Given the description of an element on the screen output the (x, y) to click on. 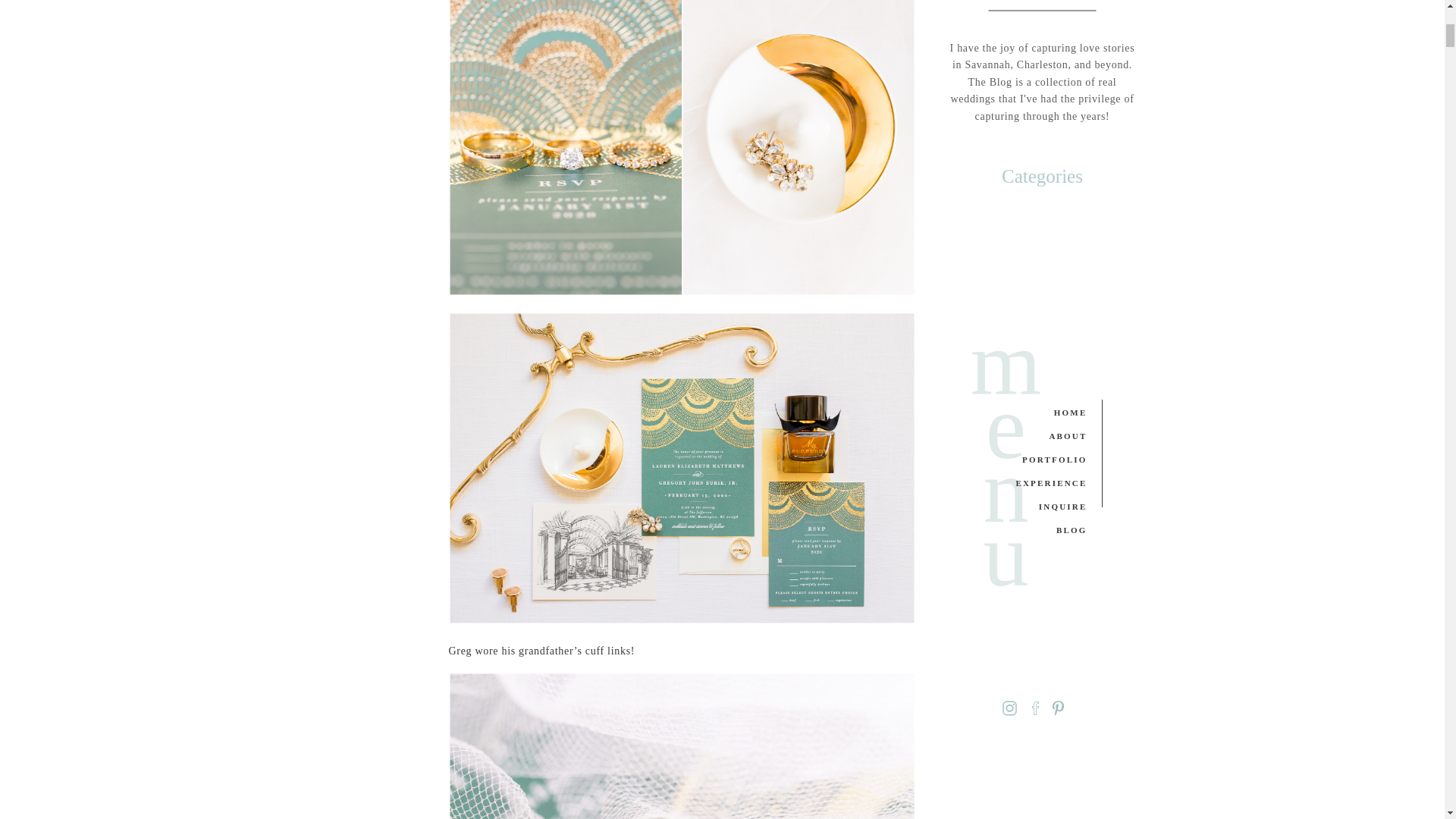
HOME (1005, 443)
I'M TAYLOR (1045, 412)
BLOG (1045, 482)
PORTFOLIO (1045, 530)
INQUIRE (1045, 459)
ABOUT (1045, 506)
